Given the description of an element on the screen output the (x, y) to click on. 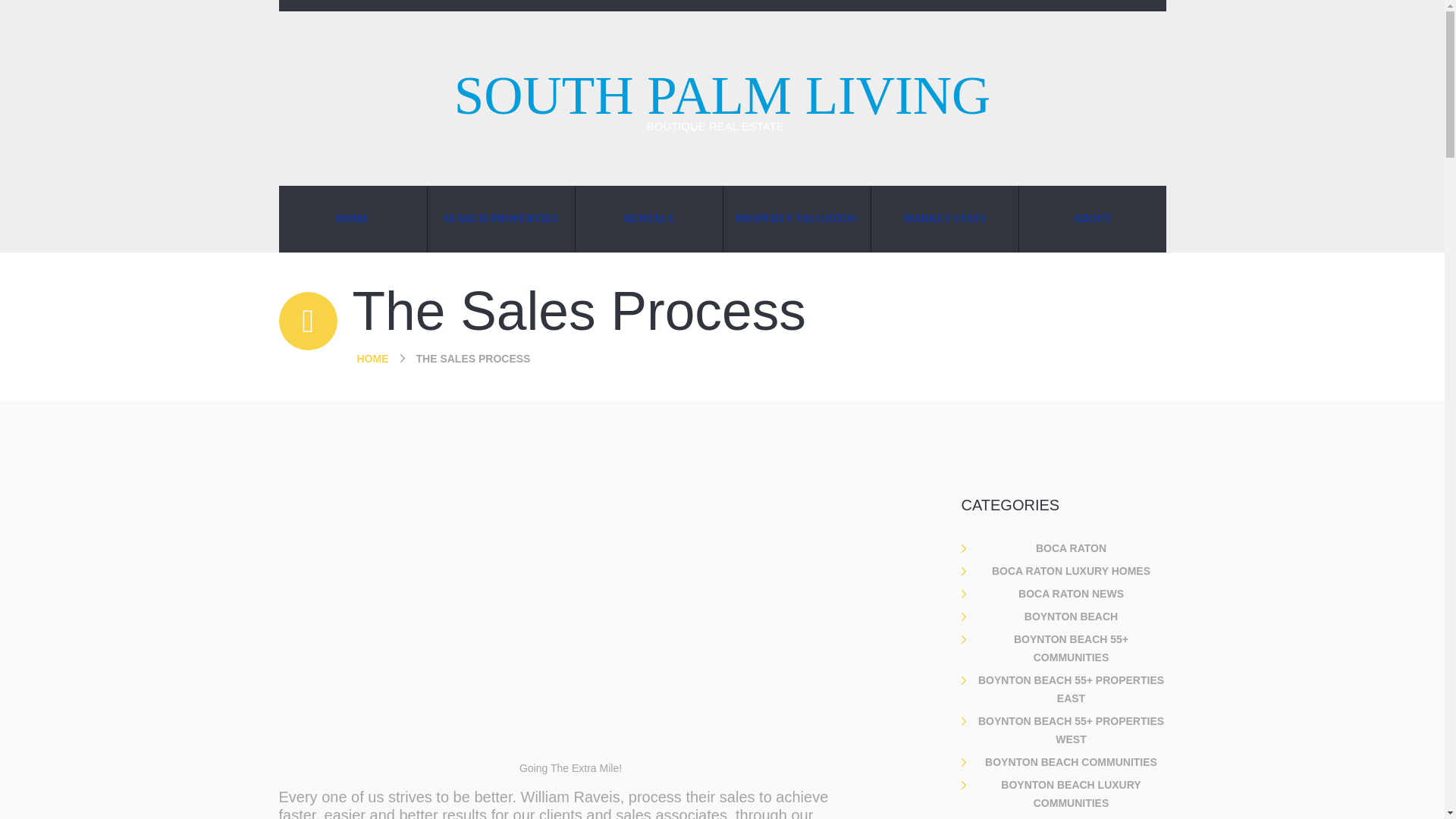
RENTALS (648, 218)
Boutique Real Estate (722, 95)
Doing Whatever it Takes! (569, 619)
HOME (372, 358)
HOME (352, 218)
MARKET STATS (943, 218)
SEARCH PROPERTIES (501, 218)
ABOUT (1092, 218)
SOUTH PALM LIVING (722, 95)
PROPERTY VALUATION (796, 218)
